Given the description of an element on the screen output the (x, y) to click on. 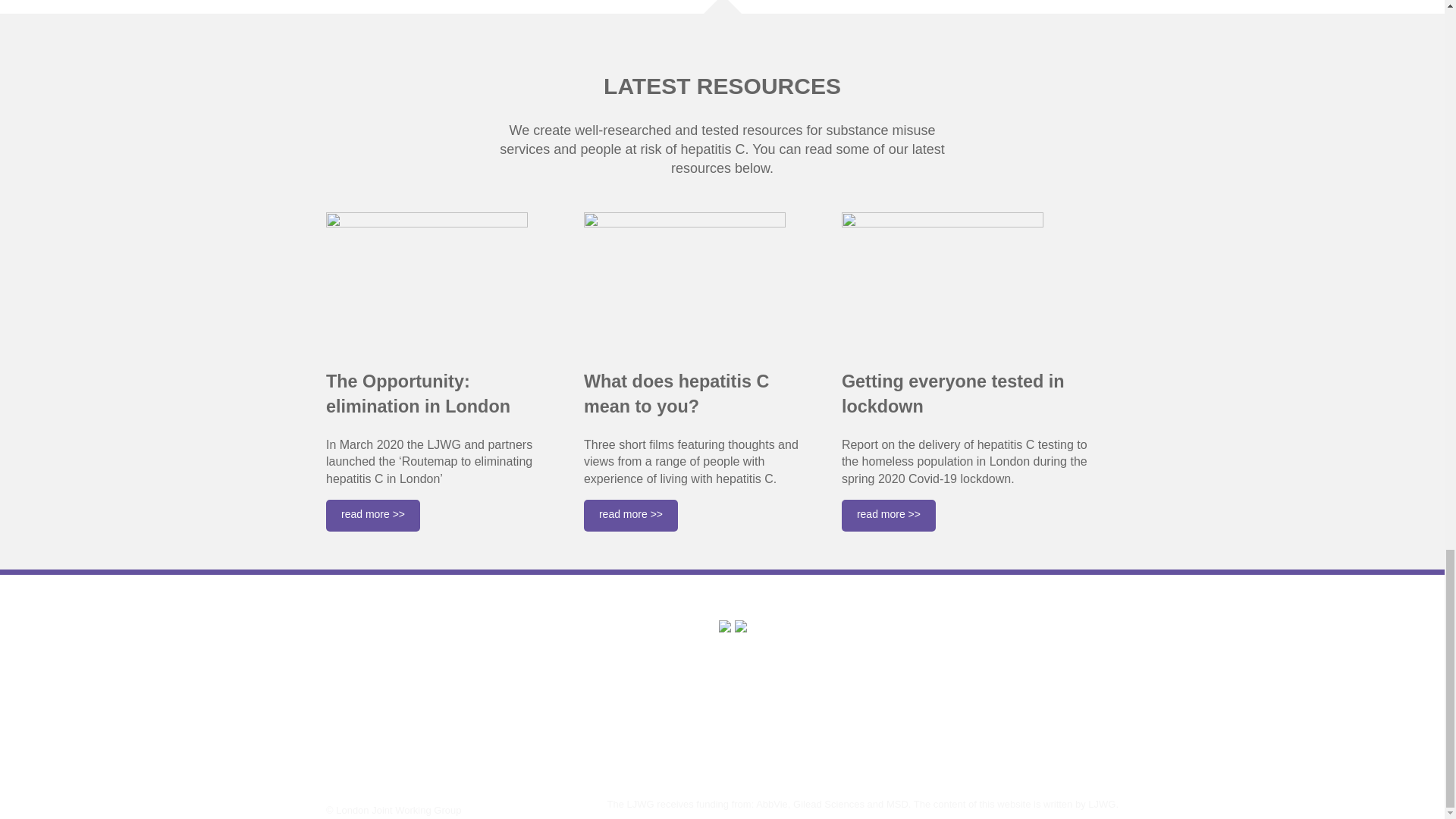
Who We Are (364, 665)
Home (344, 646)
Sign up for e-updates (584, 680)
What We Do (364, 684)
Privacy Policy (368, 761)
Contact (349, 742)
News (342, 703)
Events (347, 722)
